Given the description of an element on the screen output the (x, y) to click on. 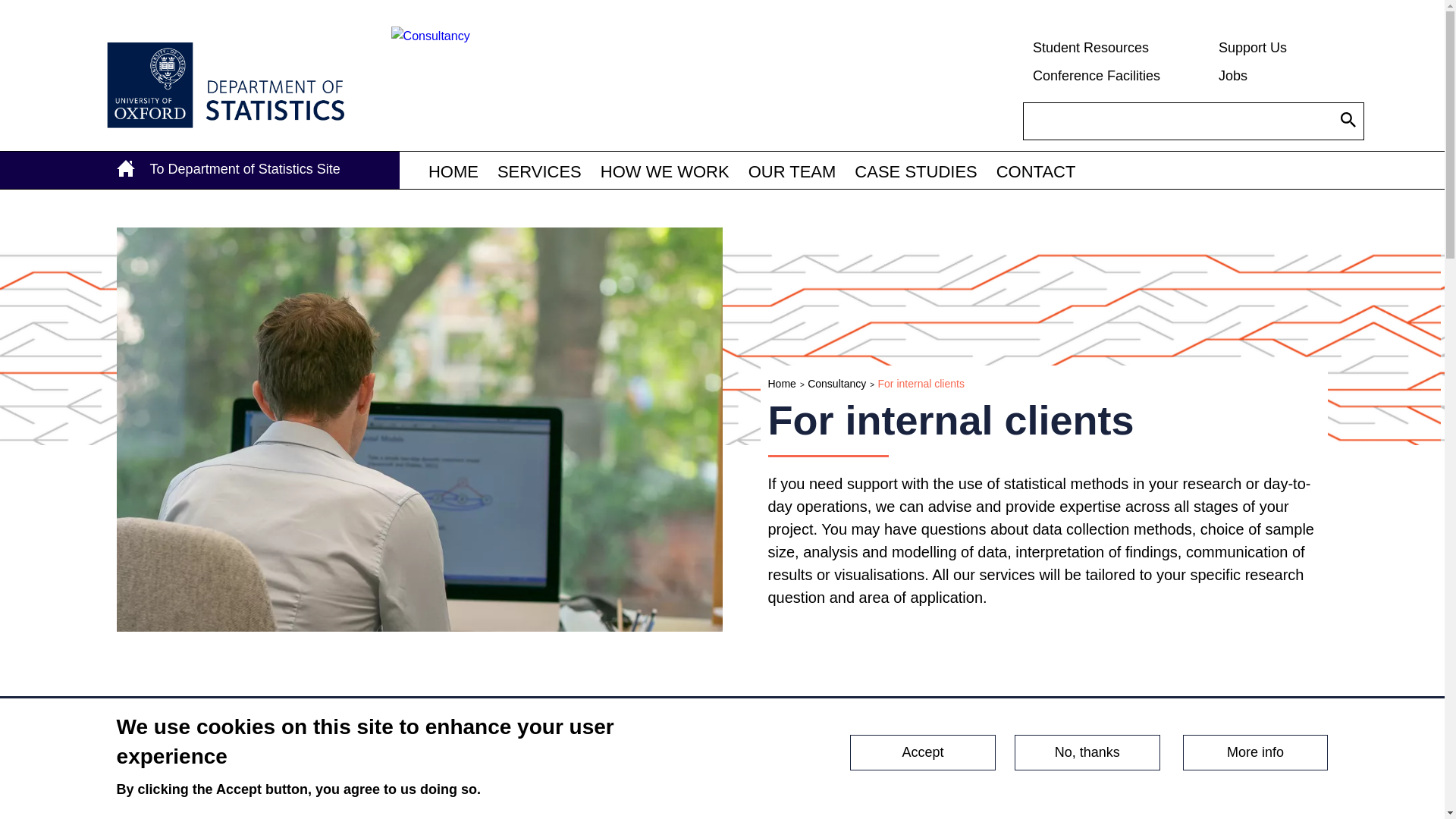
More info (1254, 752)
Conference Facilities (1096, 75)
Search (1347, 120)
HOME (453, 171)
Accept (922, 752)
To Department of Statistics Site (199, 169)
HOW WE WORK (664, 171)
Jobs (1232, 75)
CONTACT (1035, 171)
Student Resources (1090, 47)
OUR TEAM (791, 171)
Consultancy (837, 383)
Home (780, 383)
Support Us (1252, 47)
